Given the description of an element on the screen output the (x, y) to click on. 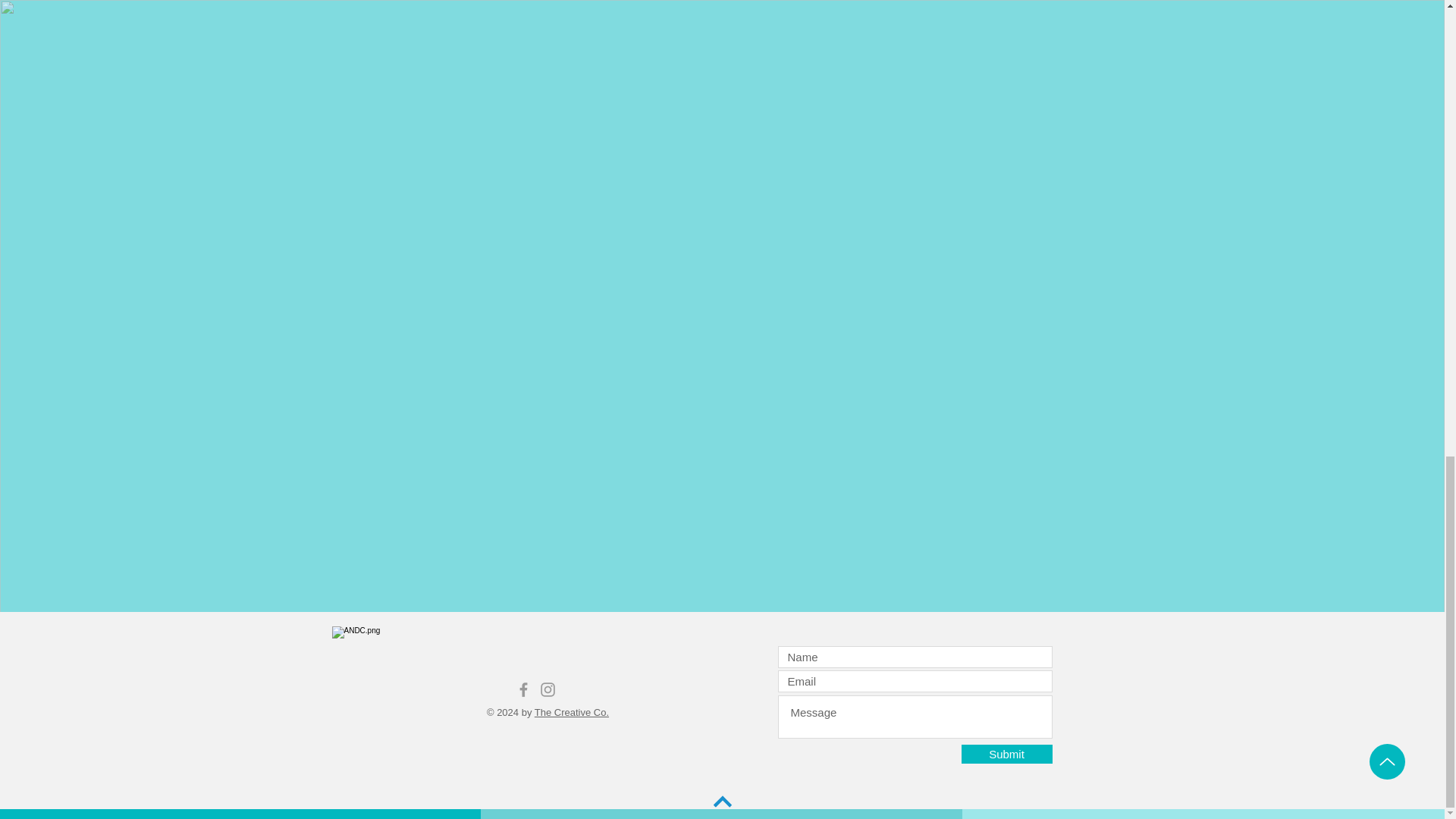
Submit (1006, 753)
The Creative Co. (571, 712)
